Given the description of an element on the screen output the (x, y) to click on. 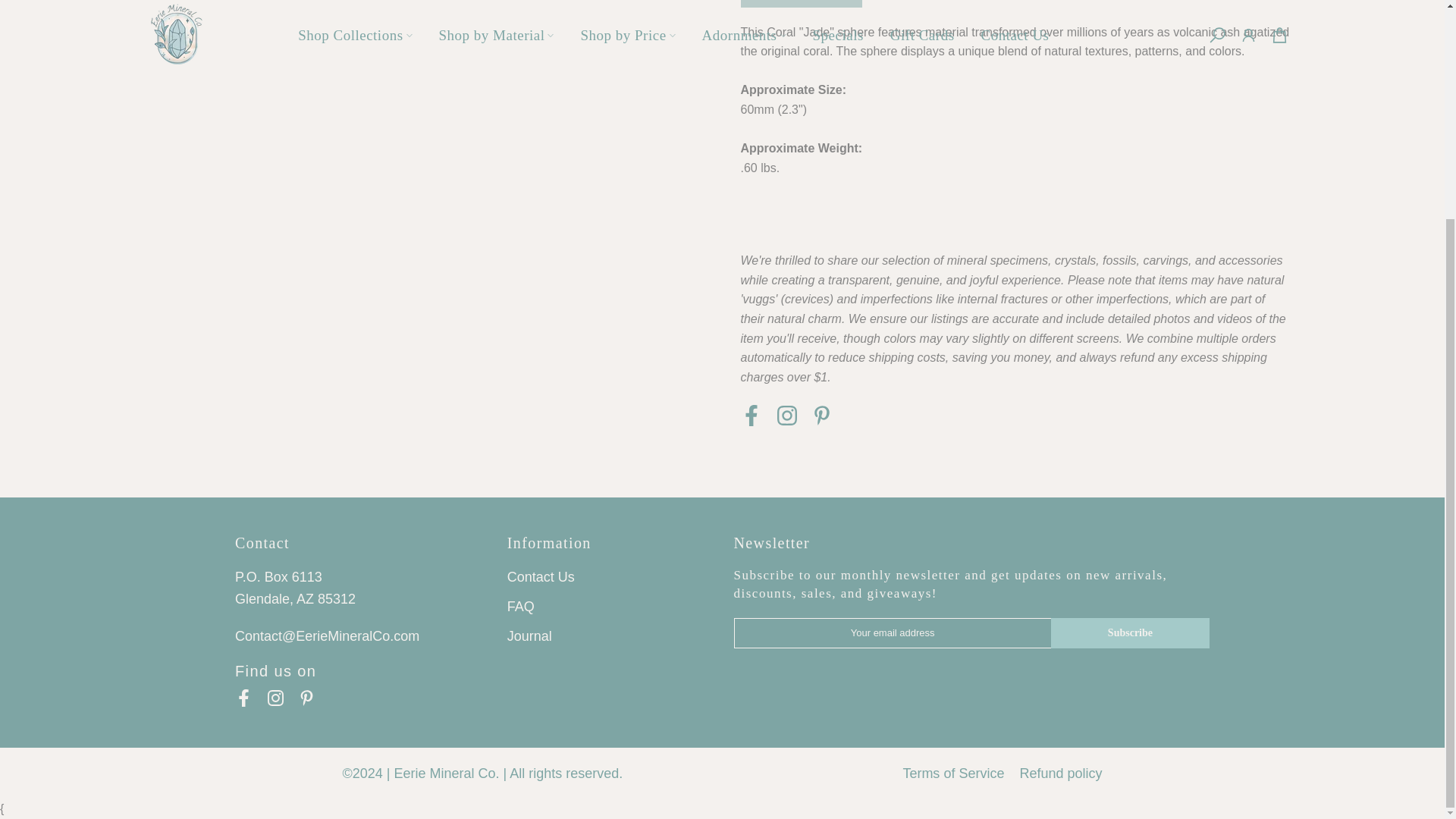
OUT OF STOCK (800, 3)
Terms of Service (953, 773)
Refund policy (1060, 773)
Contact Us (540, 576)
Subscribe (1130, 633)
Journal (528, 635)
FAQ (520, 606)
